Given the description of an element on the screen output the (x, y) to click on. 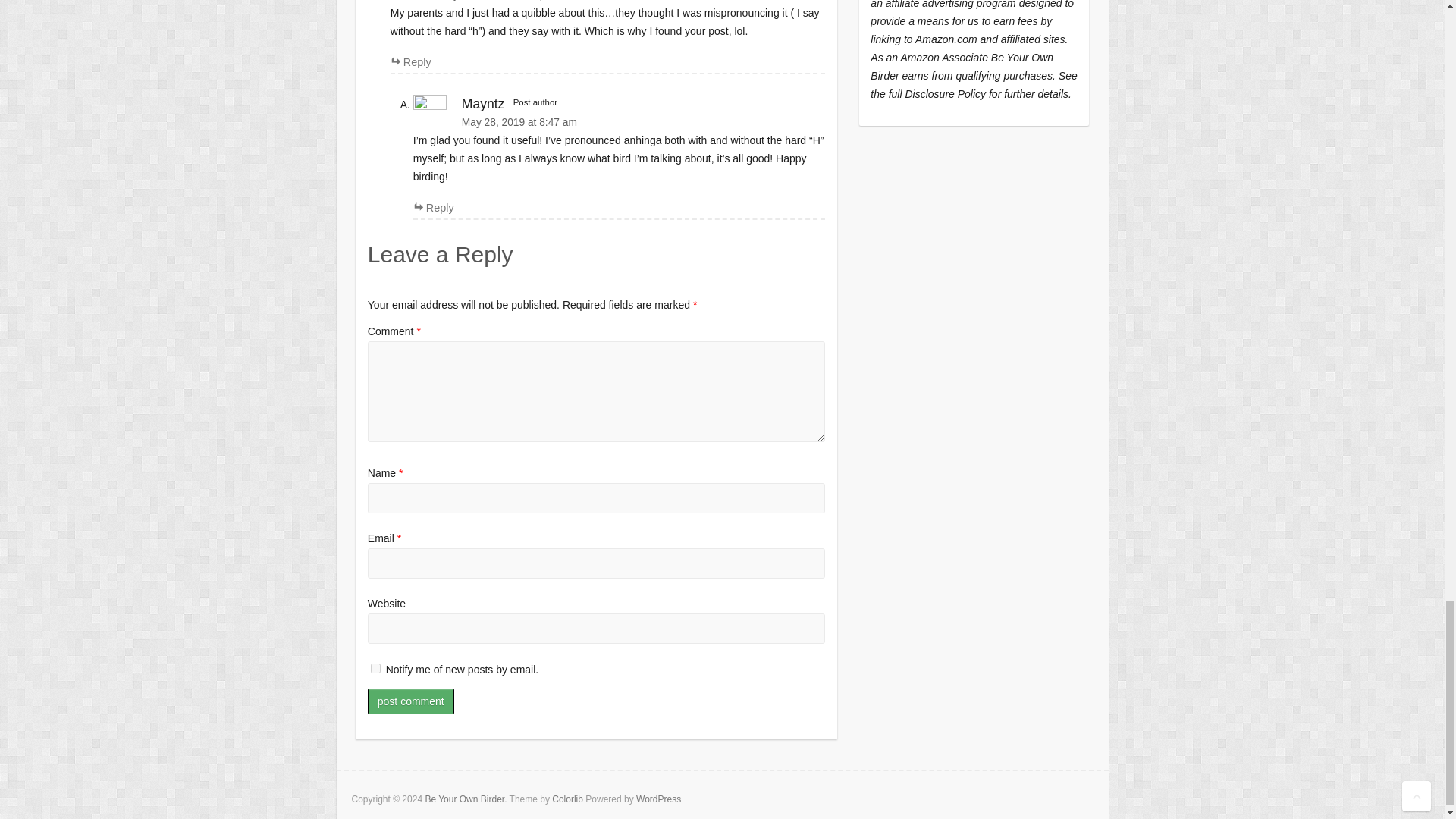
subscribe (375, 668)
Post Comment (411, 701)
Reply (410, 61)
Post Comment (411, 701)
Reply (433, 207)
May 28, 2019 at 8:47 am (619, 122)
